Given the description of an element on the screen output the (x, y) to click on. 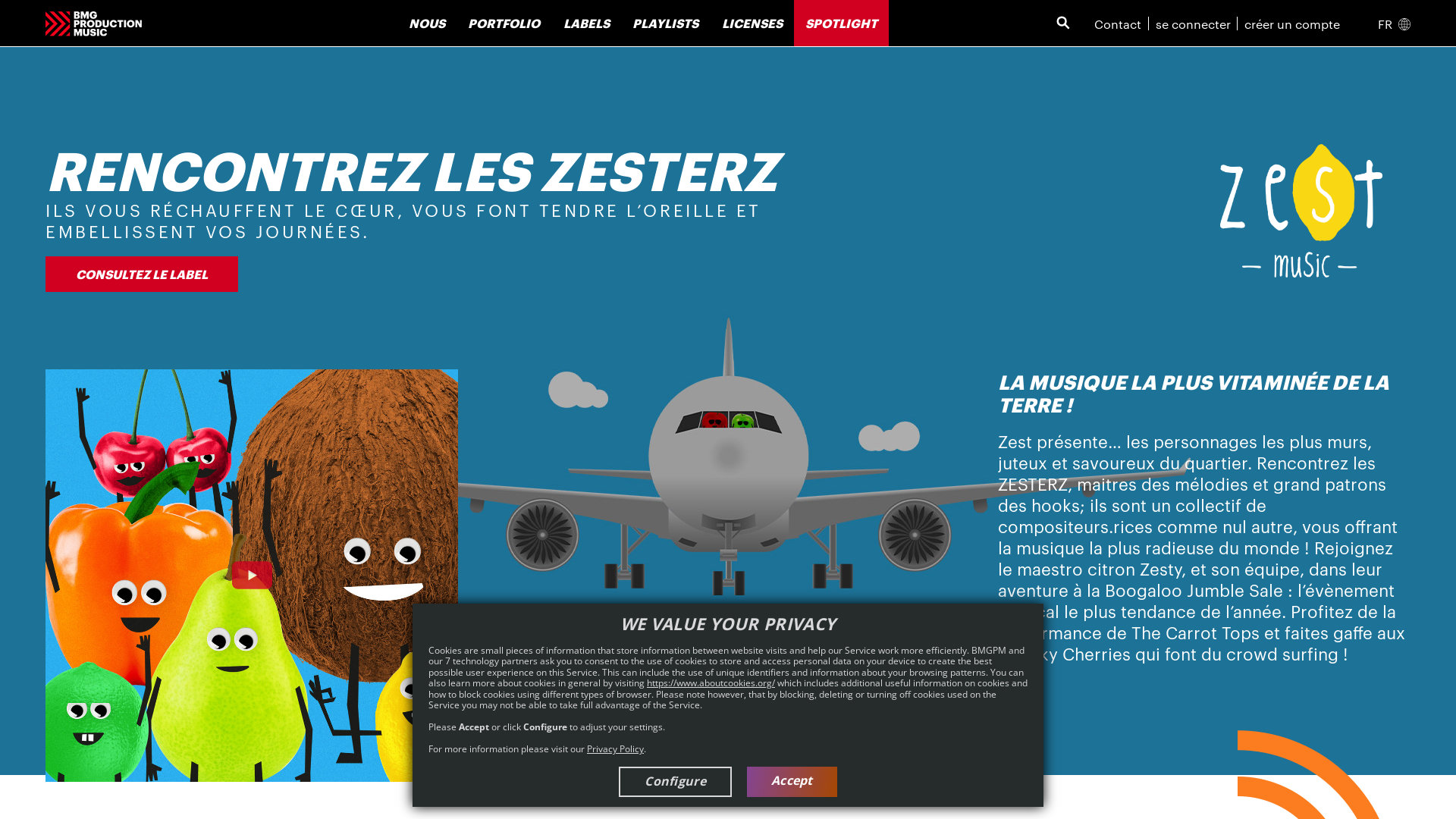
SPOTLIGHT Element type: text (840, 23)
LABELS Element type: text (586, 23)
NOUS Element type: text (426, 23)
LICENSES Element type: text (751, 23)
PLAYLISTS Element type: text (665, 23)
PORTFOLIO Element type: text (503, 23)
Contact Element type: text (1117, 22)
CONSULTEZ LE LABEL Element type: text (141, 273)
FR Element type: text (1393, 23)
BMG Element type: hover (93, 34)
se connecter Element type: text (1192, 22)
